Given the description of an element on the screen output the (x, y) to click on. 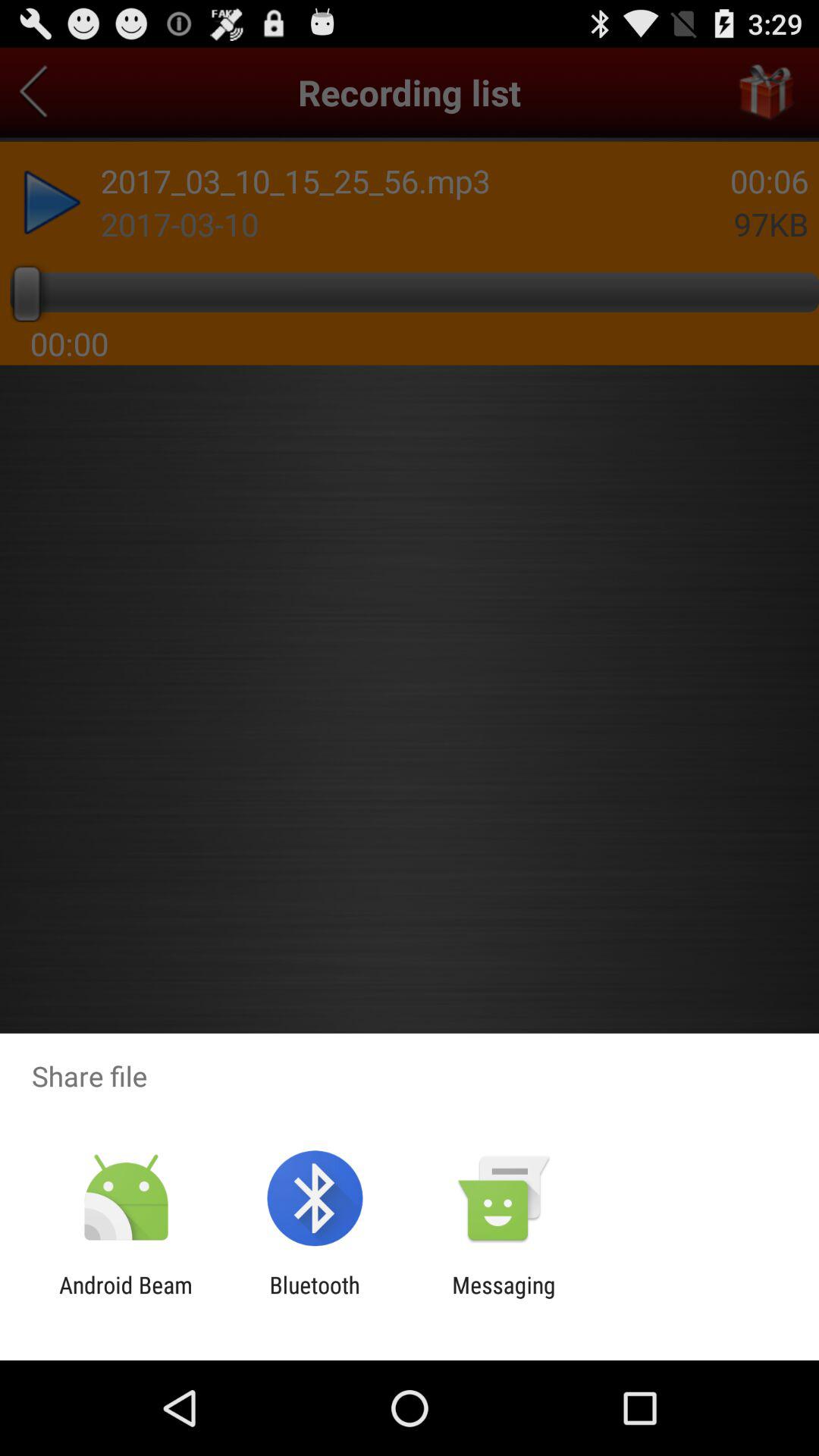
launch the bluetooth icon (314, 1298)
